Given the description of an element on the screen output the (x, y) to click on. 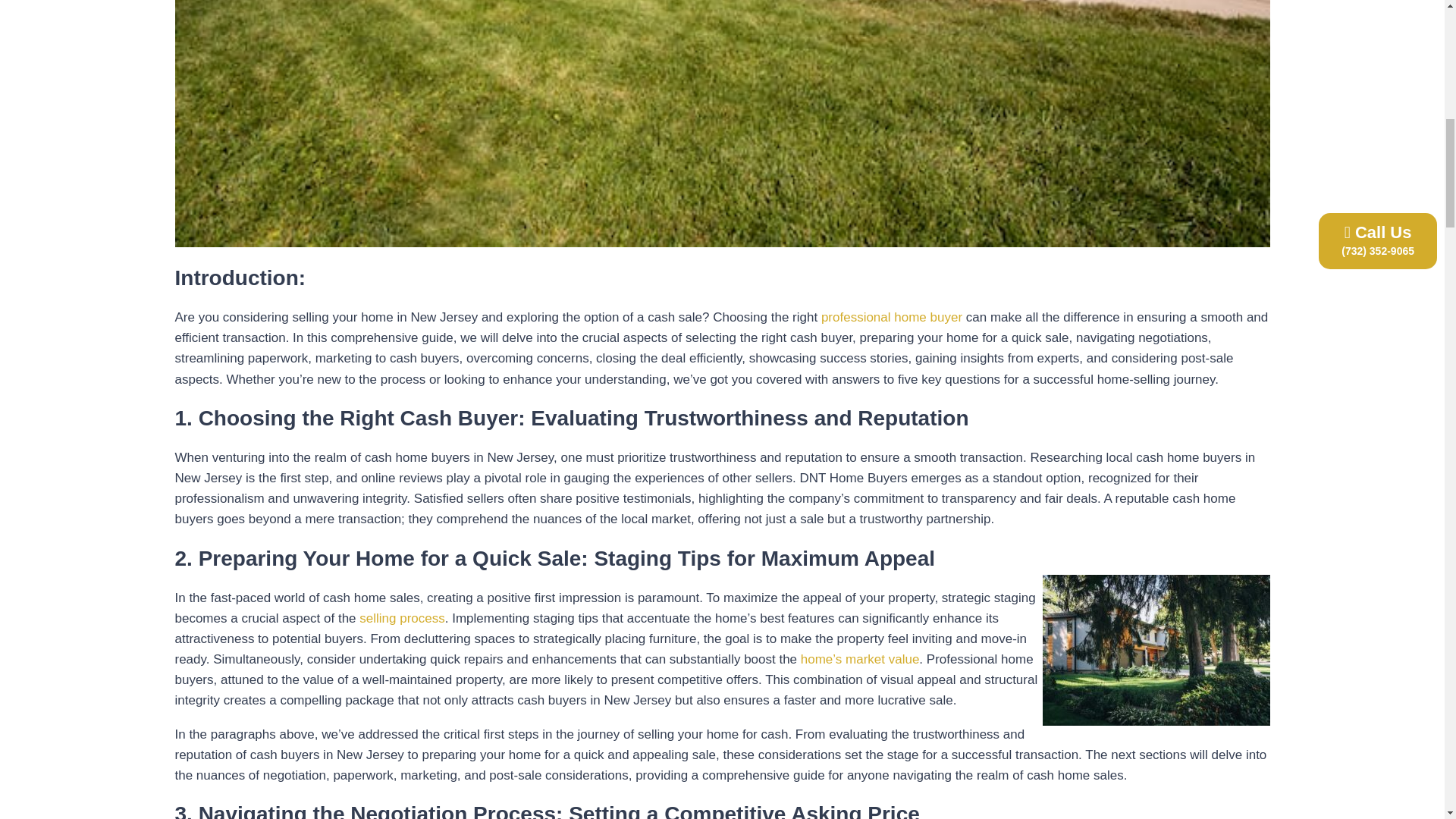
selling process (401, 617)
professional home buyer (891, 317)
